Given the description of an element on the screen output the (x, y) to click on. 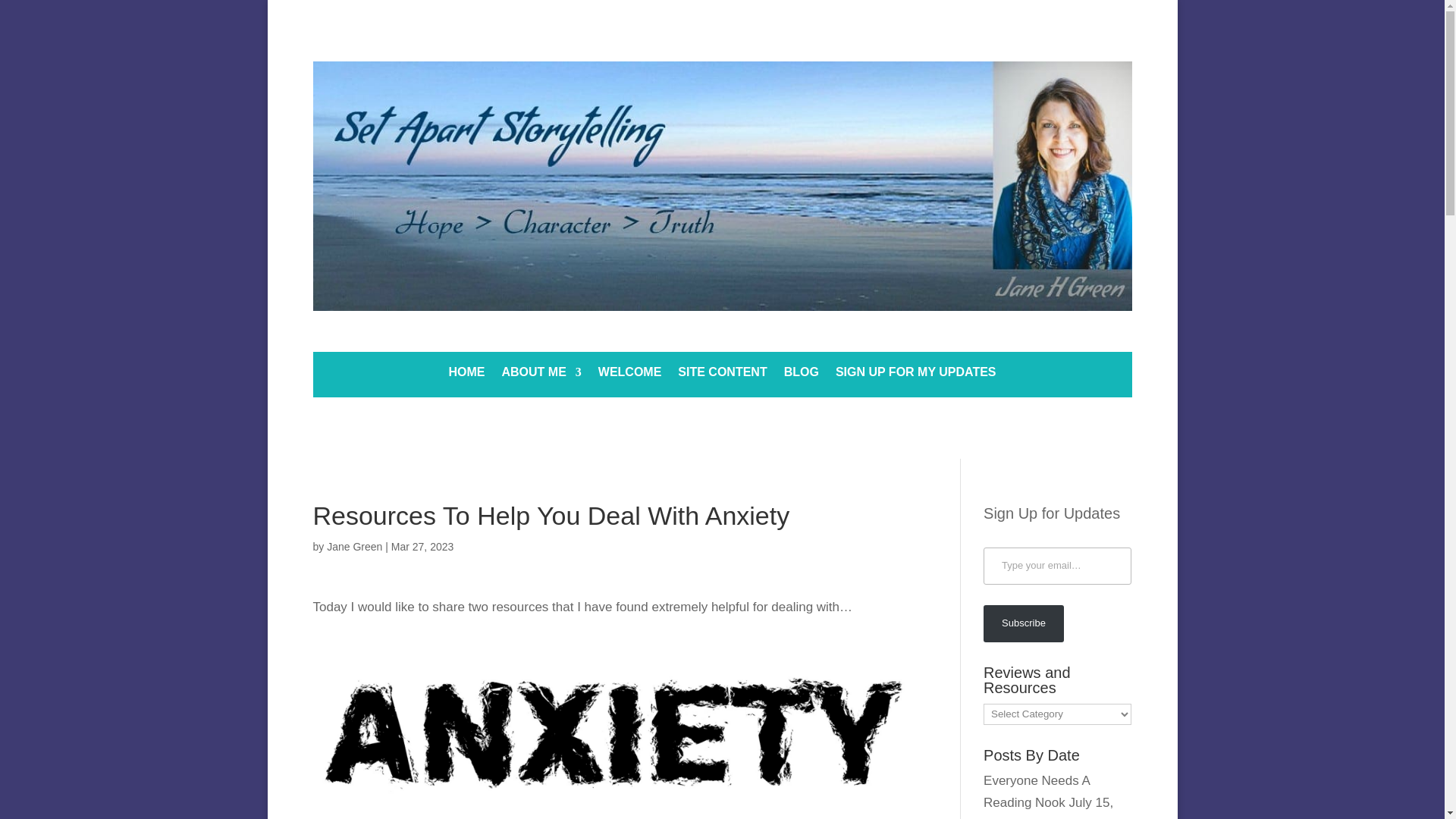
HOME (466, 375)
Everyone Needs A Reading Nook (1036, 791)
Jane Green (353, 546)
SITE CONTENT (722, 375)
WELCOME (630, 375)
BLOG (801, 375)
Please fill in this field. (1057, 565)
Subscribe (1024, 623)
SIGN UP FOR MY UPDATES (915, 375)
ABOUT ME (540, 375)
Posts by Jane Green (353, 546)
